Given the description of an element on the screen output the (x, y) to click on. 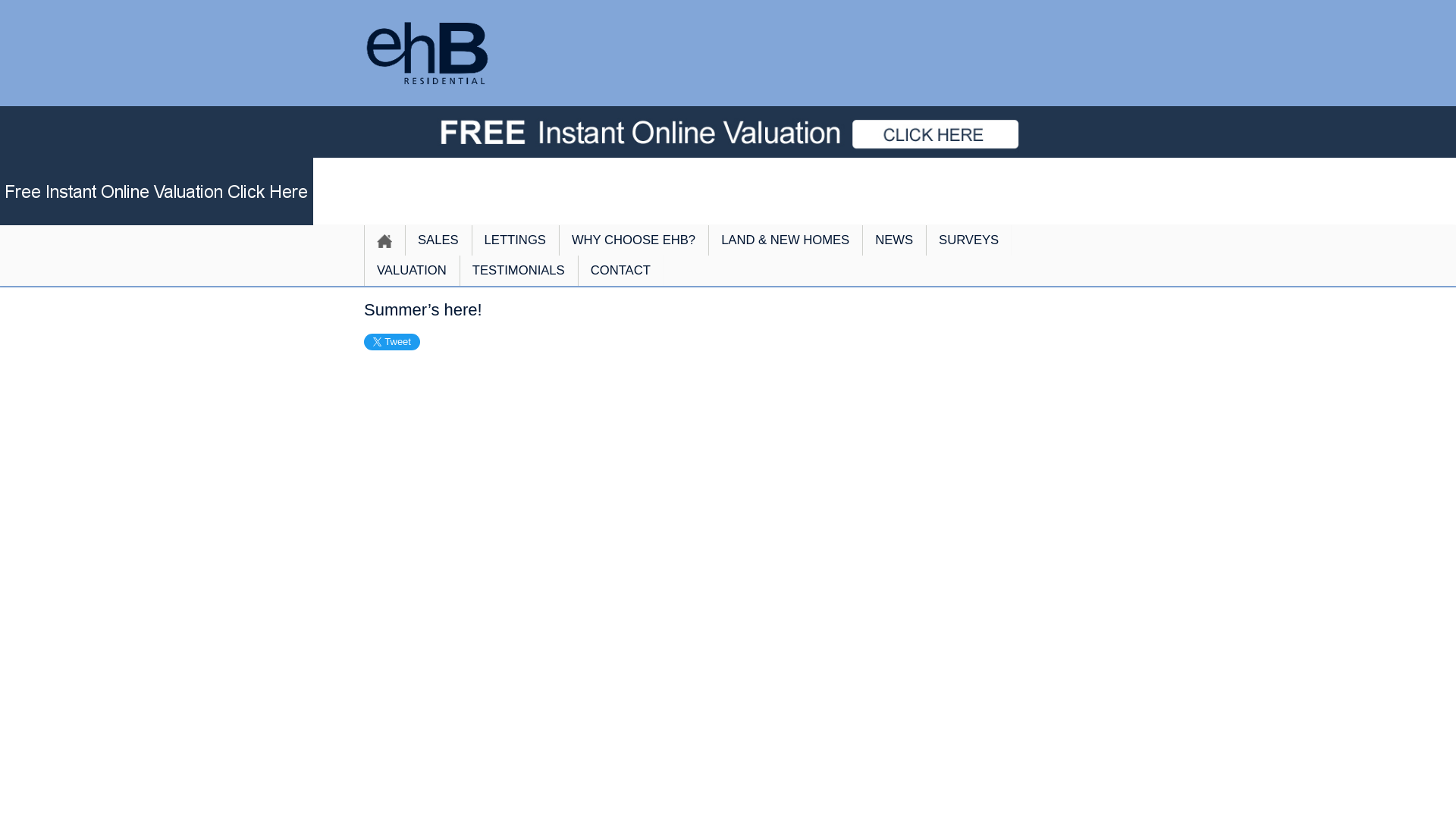
CONTACT (620, 270)
TESTIMONIALS (519, 270)
LETTINGS (515, 240)
NEWS (893, 240)
SALES (437, 240)
VALUATION (412, 270)
WHY CHOOSE EHB? (633, 240)
SURVEYS (968, 240)
